Given the description of an element on the screen output the (x, y) to click on. 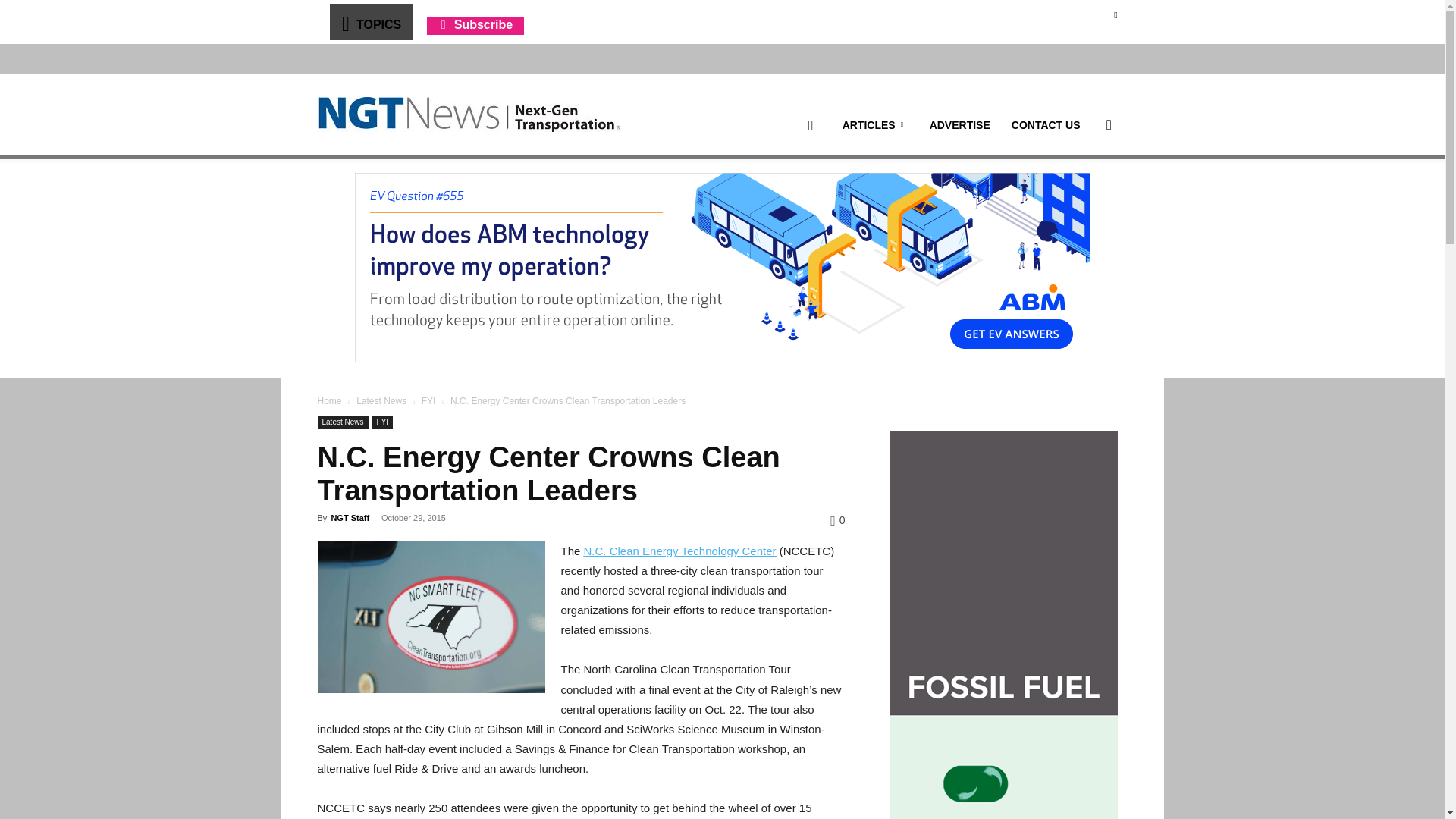
NGT News (468, 114)
TOPICS (370, 22)
Subscribe (475, 24)
Alternative Fuel News, CNG News (468, 114)
ARTICLES (874, 124)
Twitter (1114, 14)
Search (1085, 197)
